Given the description of an element on the screen output the (x, y) to click on. 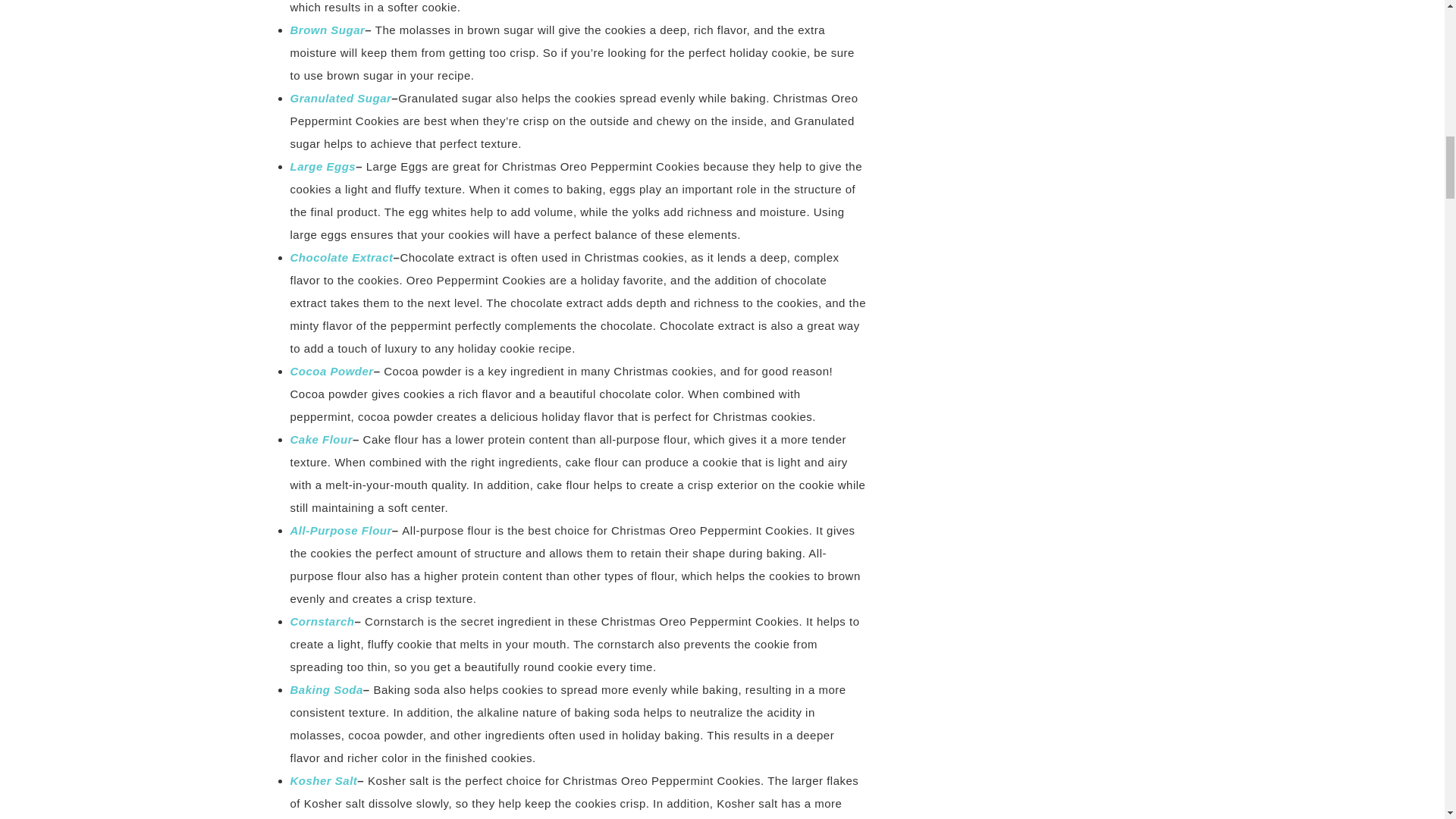
All-Purpose Flour (340, 530)
Chocolate Extract (341, 256)
Brown Sugar (327, 29)
Cocoa Powder (330, 370)
Kosher Salt (322, 780)
Granulated Sugar (340, 97)
Cake Flour (320, 439)
Large Eggs (322, 165)
Baking Soda (325, 689)
Cornstarch (321, 621)
